Given the description of an element on the screen output the (x, y) to click on. 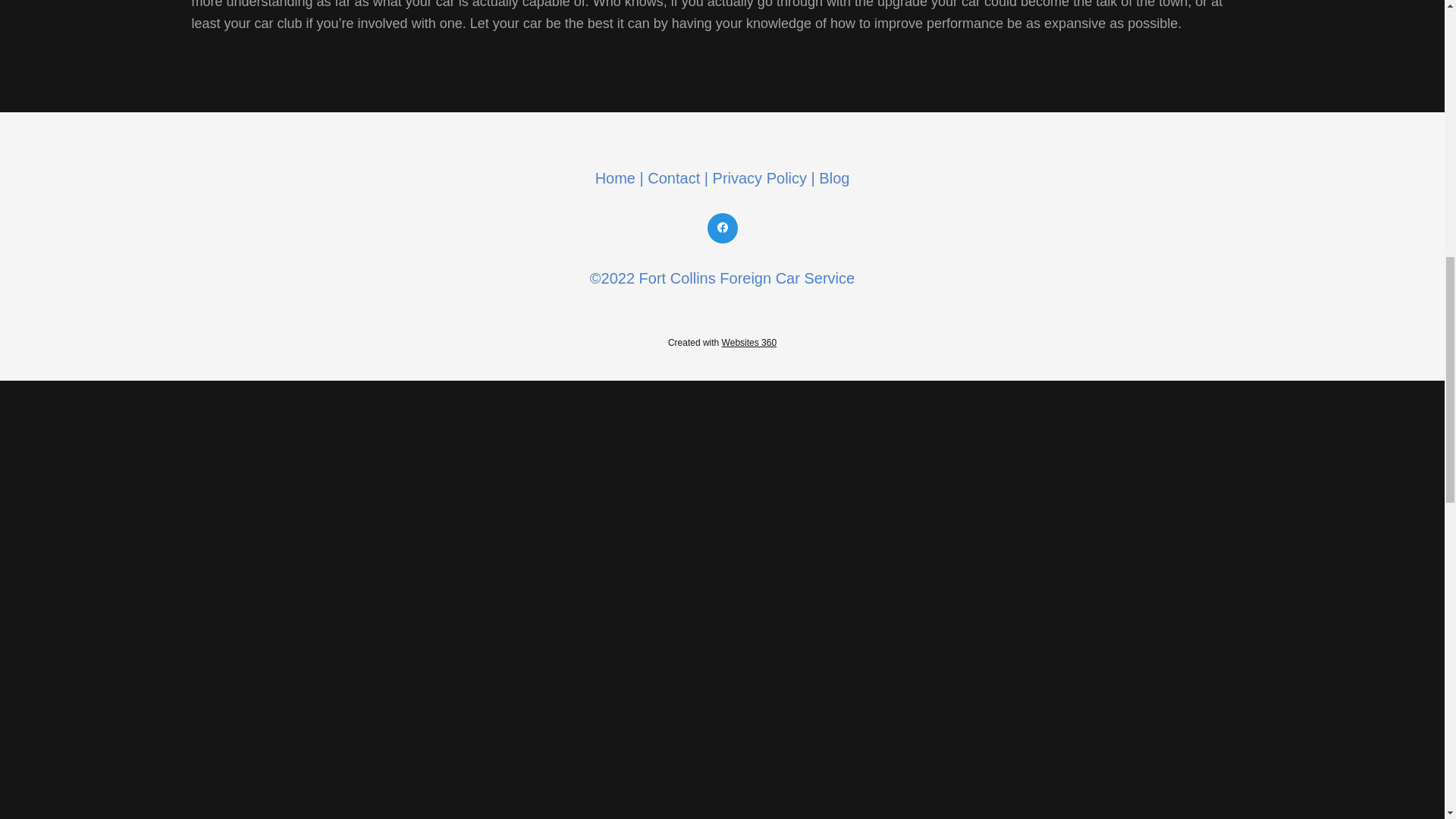
Home (617, 177)
Created with Websites 360 (722, 342)
Blog (833, 177)
Contact (673, 177)
Privacy Policy (759, 177)
